Given the description of an element on the screen output the (x, y) to click on. 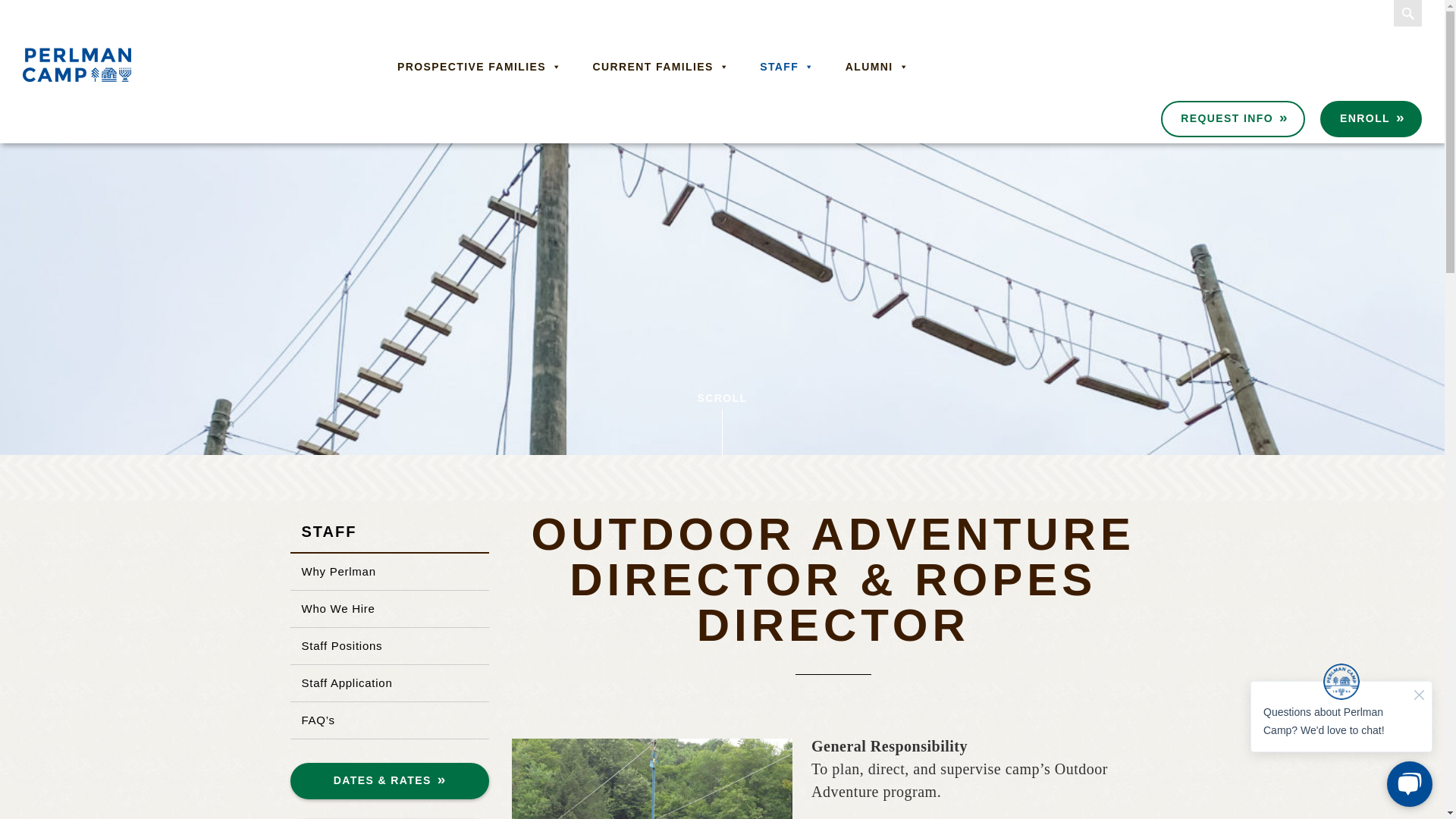
SCROLL (722, 418)
